Given the description of an element on the screen output the (x, y) to click on. 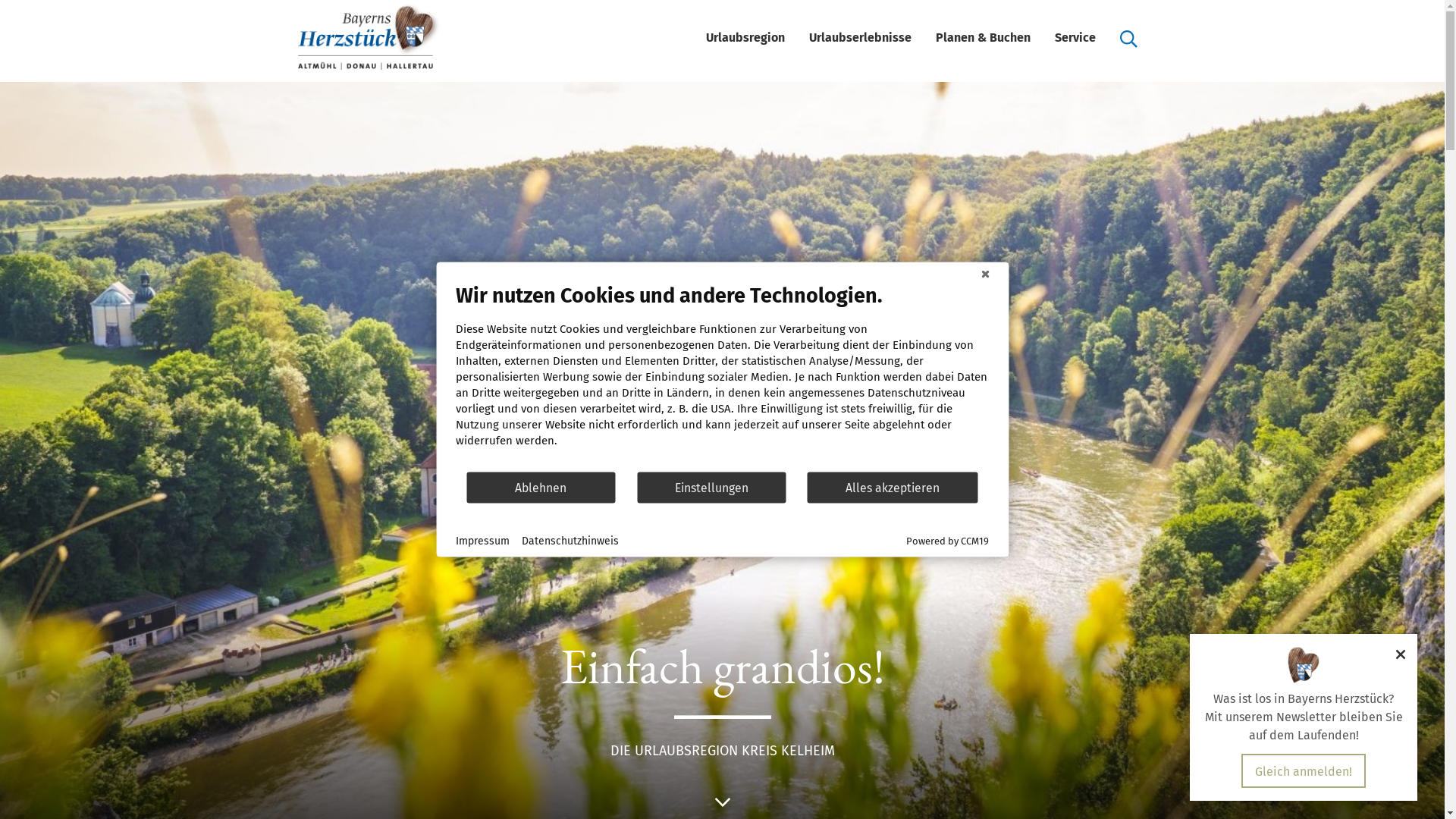
Ablehnen Element type: text (540, 486)
Urlaubserlebnisse Element type: text (859, 37)
Gleich anmelden! Element type: text (1303, 770)
Planen & Buchen Element type: text (982, 37)
Powered by CCM19 Element type: text (947, 540)
Service Element type: text (1074, 37)
Close Element type: hover (984, 273)
Datenschutzhinweis Element type: text (569, 540)
Impressum Element type: text (482, 540)
Suchen Element type: text (1128, 37)
Alles akzeptieren Element type: text (892, 486)
Einstellungen Element type: text (711, 486)
Urlaubsregion Element type: text (744, 37)
